Given the description of an element on the screen output the (x, y) to click on. 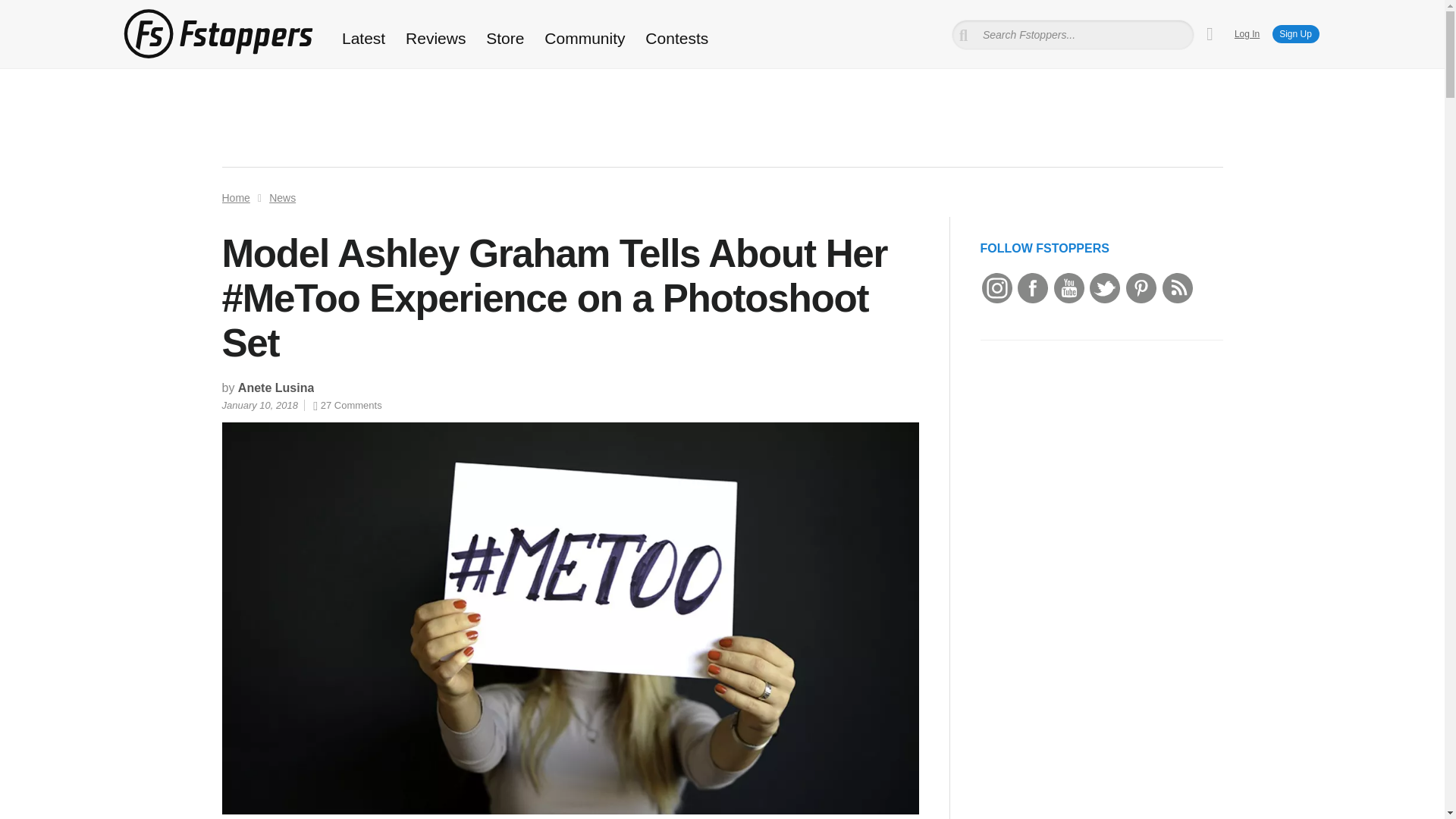
27 Comments (347, 405)
Log In (1246, 33)
My Cart (1209, 34)
Sign Up (1295, 34)
Anete Lusina (276, 387)
Home (234, 197)
Search (32, 11)
Reviews (435, 37)
Community (585, 37)
News (282, 197)
